Given the description of an element on the screen output the (x, y) to click on. 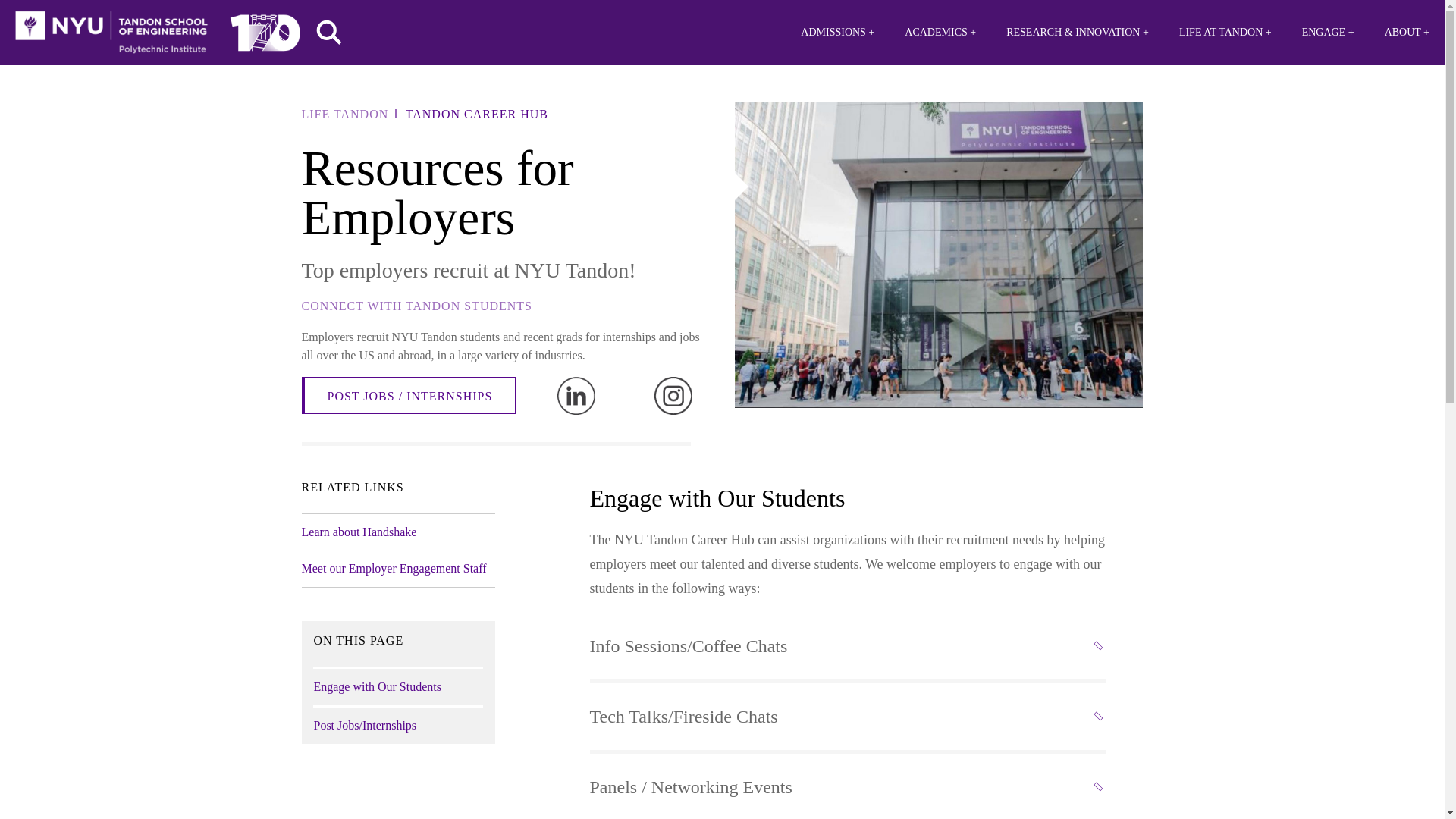
NYU Tandon Anniversary (264, 29)
NYU Tandon Logo (111, 32)
NYU Tandon School of Engineering - Polytechnic Institute (111, 32)
